Given the description of an element on the screen output the (x, y) to click on. 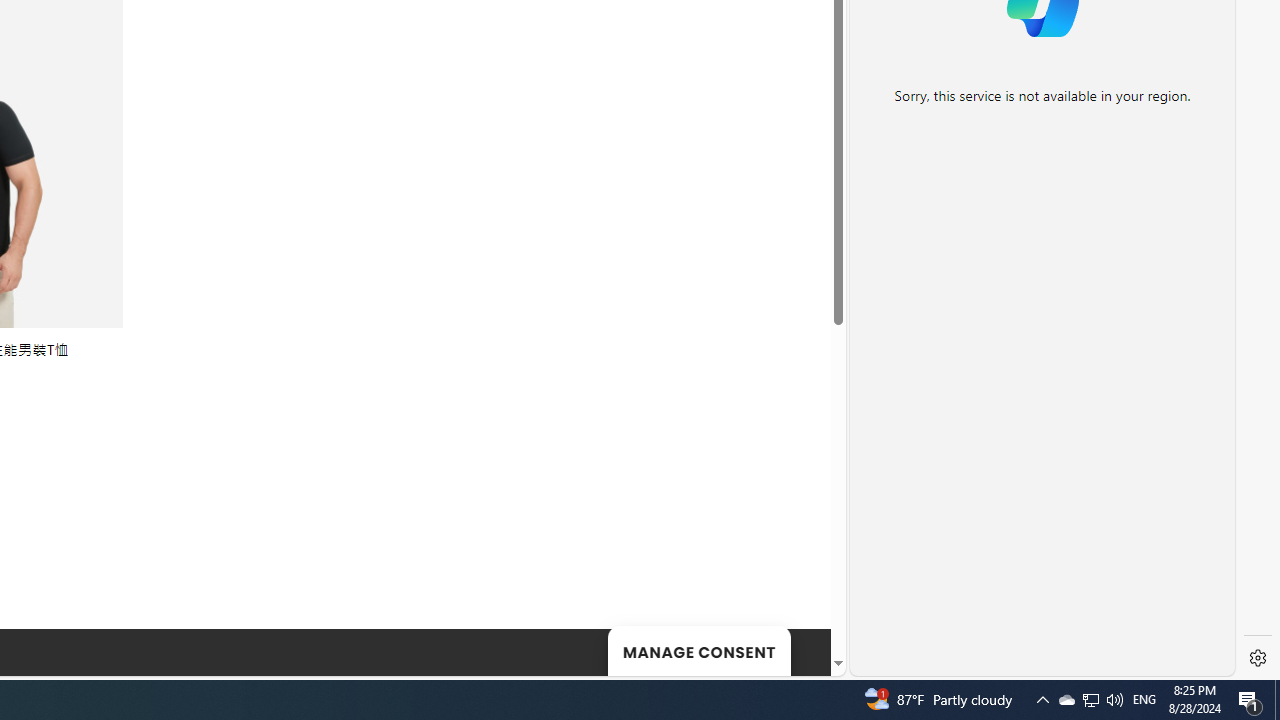
Settings (1258, 658)
Go to top (790, 647)
MANAGE CONSENT (698, 650)
